Given the description of an element on the screen output the (x, y) to click on. 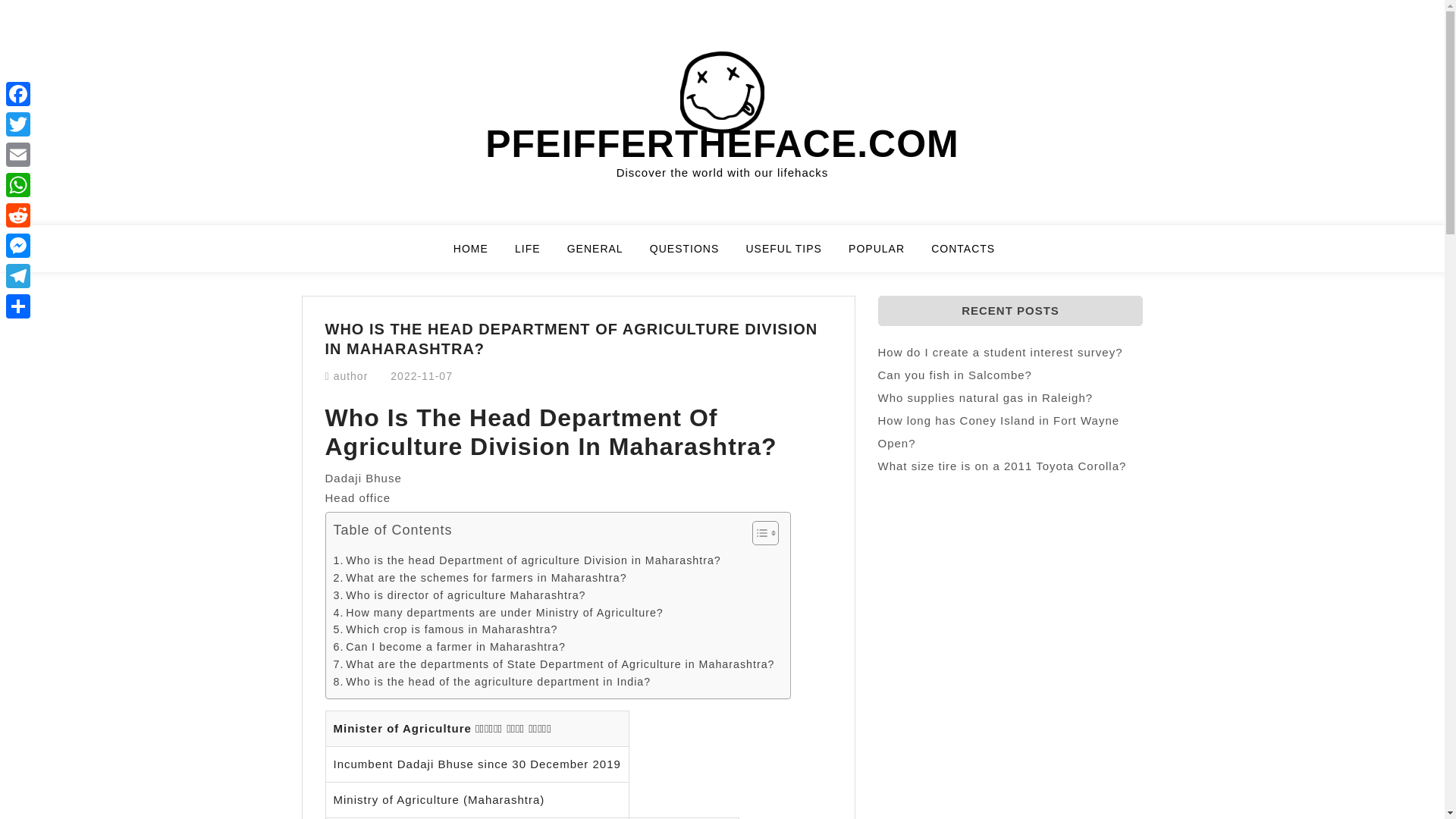
What are the schemes for farmers in Maharashtra? (480, 578)
Can I become a farmer in Maharashtra? (449, 647)
WhatsApp (17, 184)
PFEIFFERTHEFACE.COM (721, 143)
2022-11-07 (421, 376)
How many departments are under Ministry of Agriculture? (498, 612)
LIFE (537, 255)
HOME (479, 255)
Facebook (17, 93)
Who is director of agriculture Maharashtra? (459, 595)
Twitter (17, 123)
Reddit (17, 214)
USEFUL TIPS (792, 255)
How many departments are under Ministry of Agriculture? (498, 612)
